Given the description of an element on the screen output the (x, y) to click on. 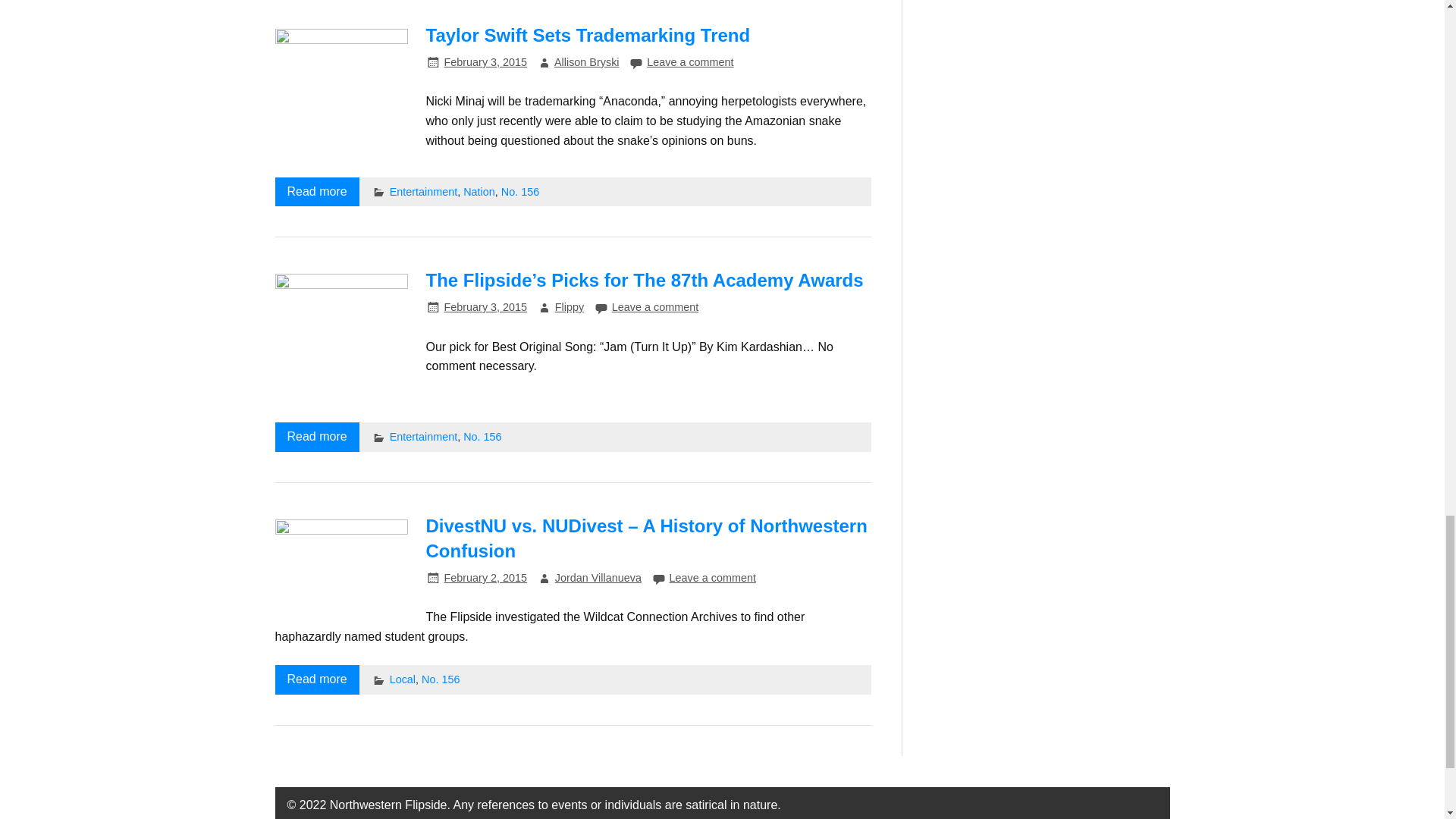
10:00 am (485, 306)
View all posts by Flippy (568, 306)
10:00 am (485, 577)
View all posts by Allison Bryski (587, 61)
2:00 pm (485, 61)
